Given the description of an element on the screen output the (x, y) to click on. 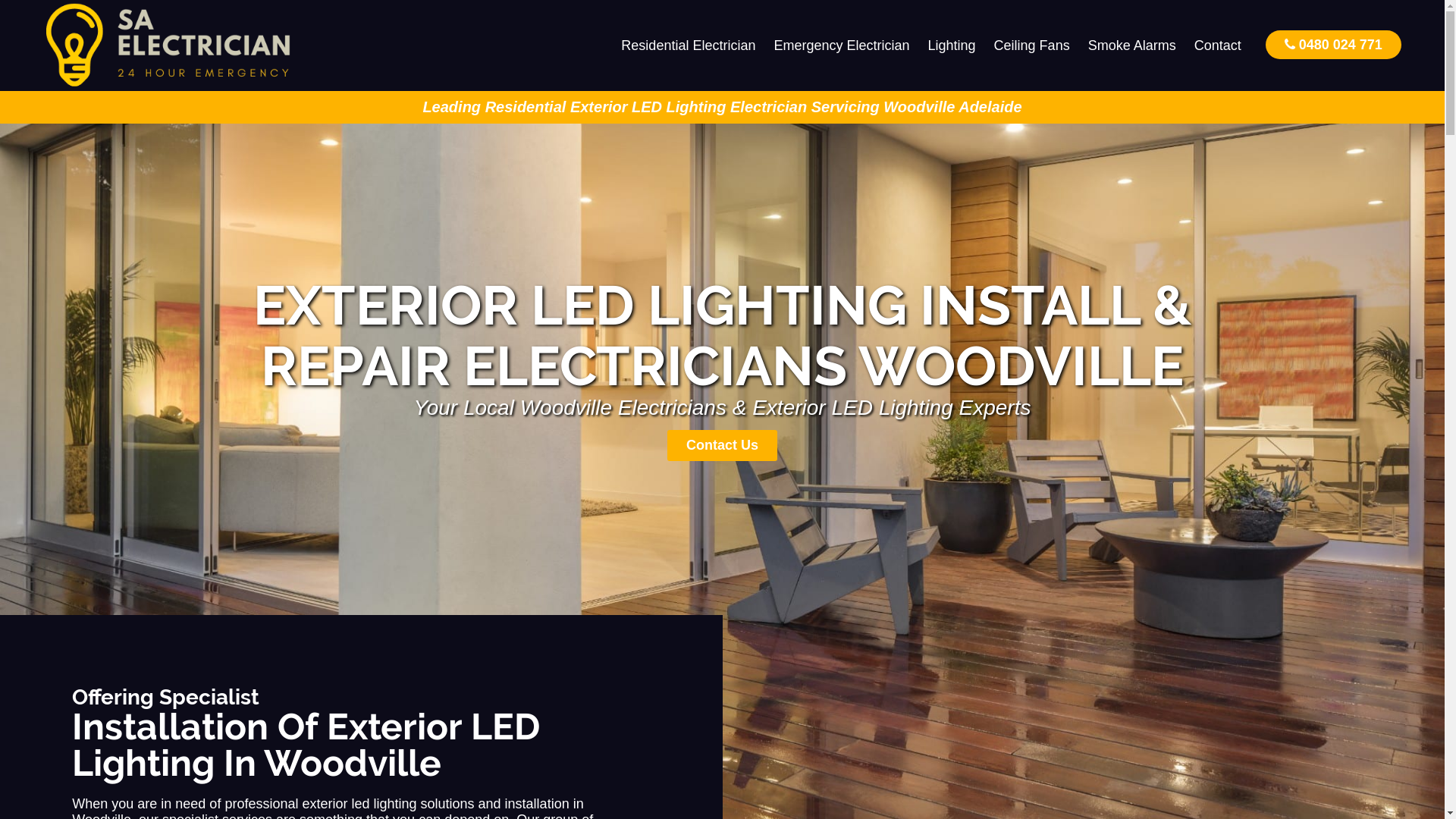
Contact Us Element type: text (722, 445)
0480 024 771 Element type: text (1333, 44)
Contact Element type: text (1217, 45)
Residential Electrician Element type: text (687, 45)
Emergency Electrician Element type: text (841, 45)
Ceiling Fans Element type: text (1032, 45)
Lighting Element type: text (952, 45)
Smoke Alarms Element type: text (1132, 45)
